Given the description of an element on the screen output the (x, y) to click on. 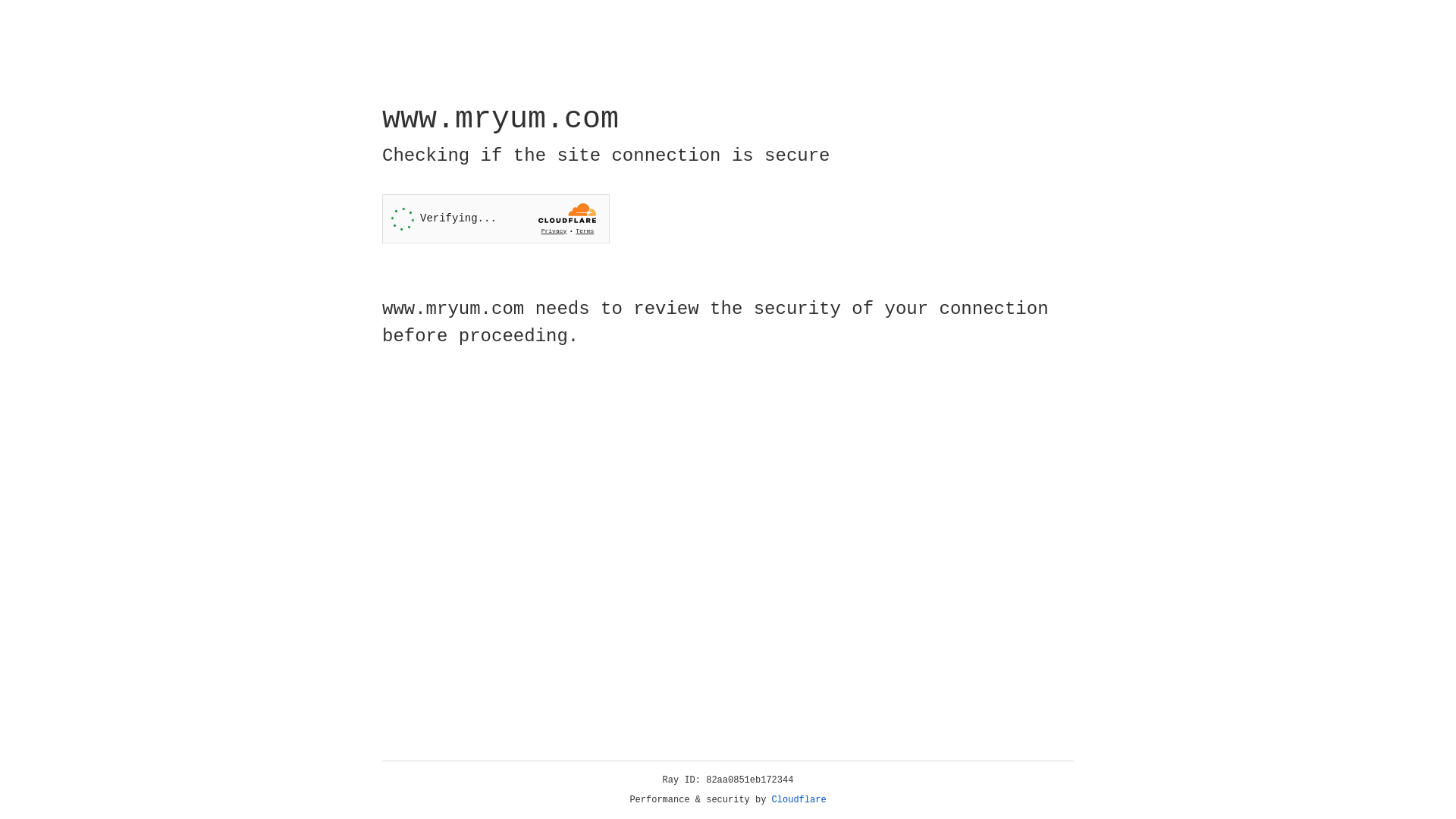
Cloudflare Element type: text (798, 799)
Widget containing a Cloudflare security challenge Element type: hover (495, 218)
